Given the description of an element on the screen output the (x, y) to click on. 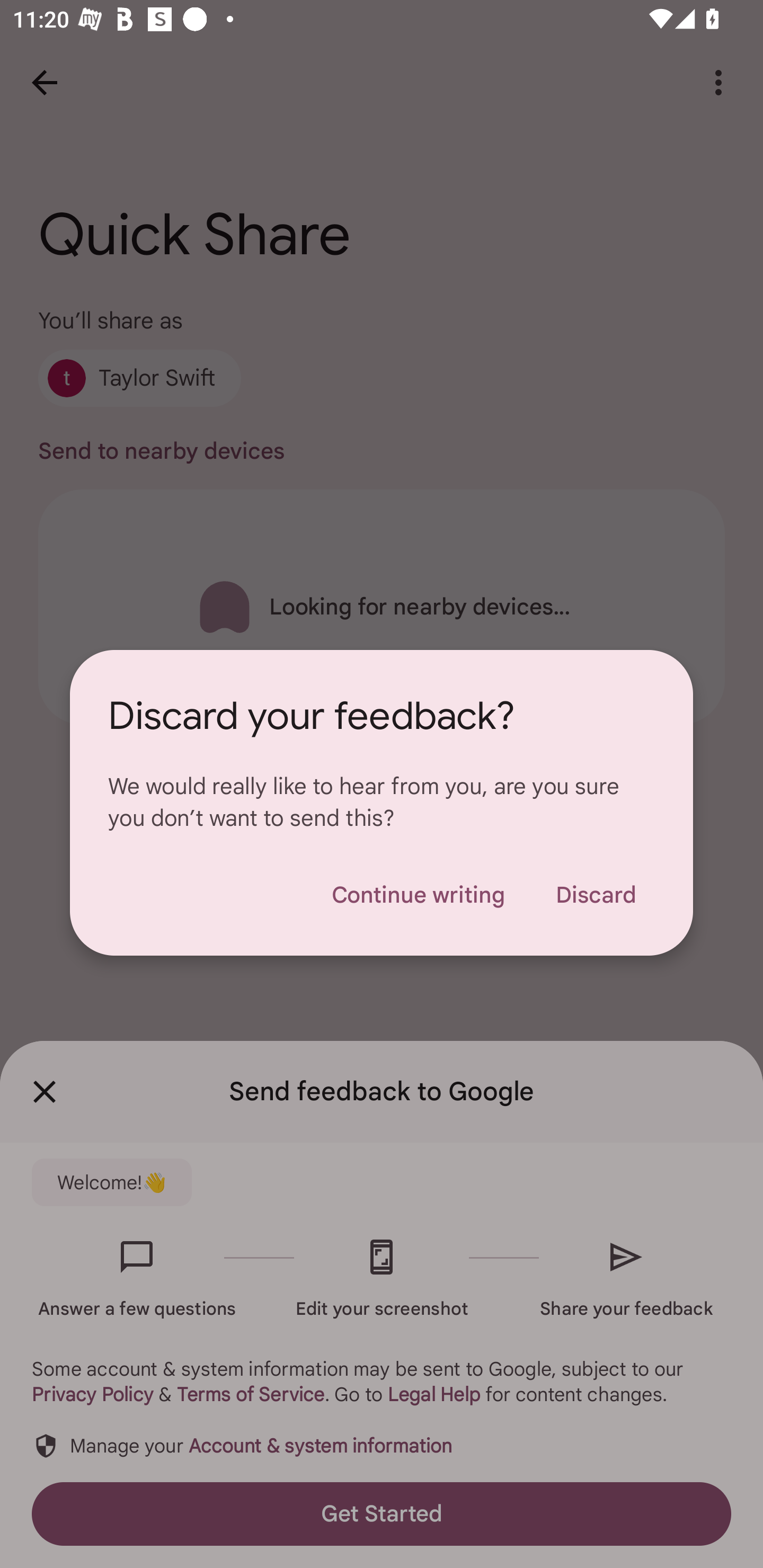
Continue writing (417, 894)
Discard (595, 894)
